Given the description of an element on the screen output the (x, y) to click on. 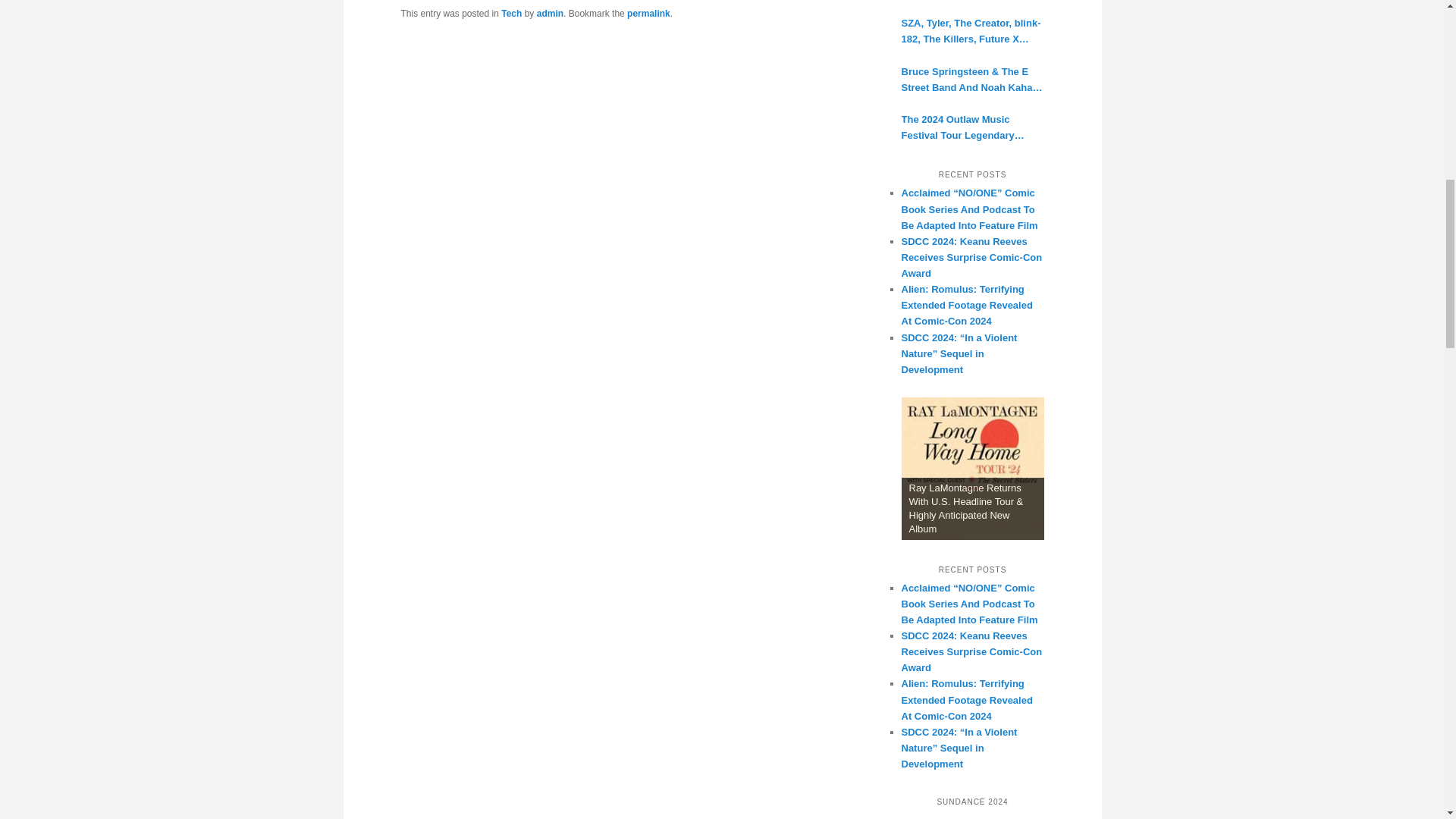
admin (550, 13)
permalink (648, 13)
Tech (510, 13)
